Given the description of an element on the screen output the (x, y) to click on. 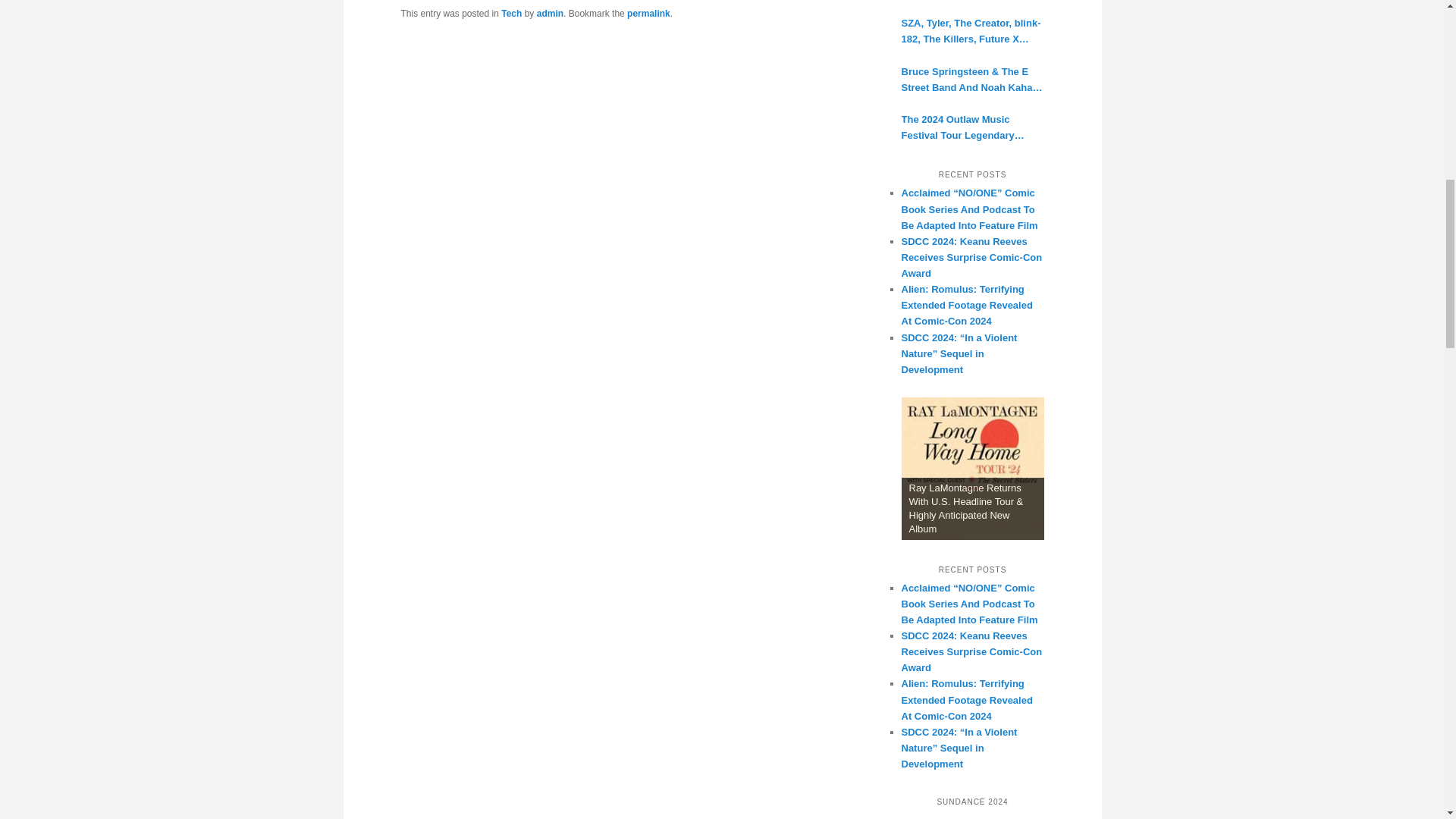
admin (550, 13)
permalink (648, 13)
Tech (510, 13)
